Given the description of an element on the screen output the (x, y) to click on. 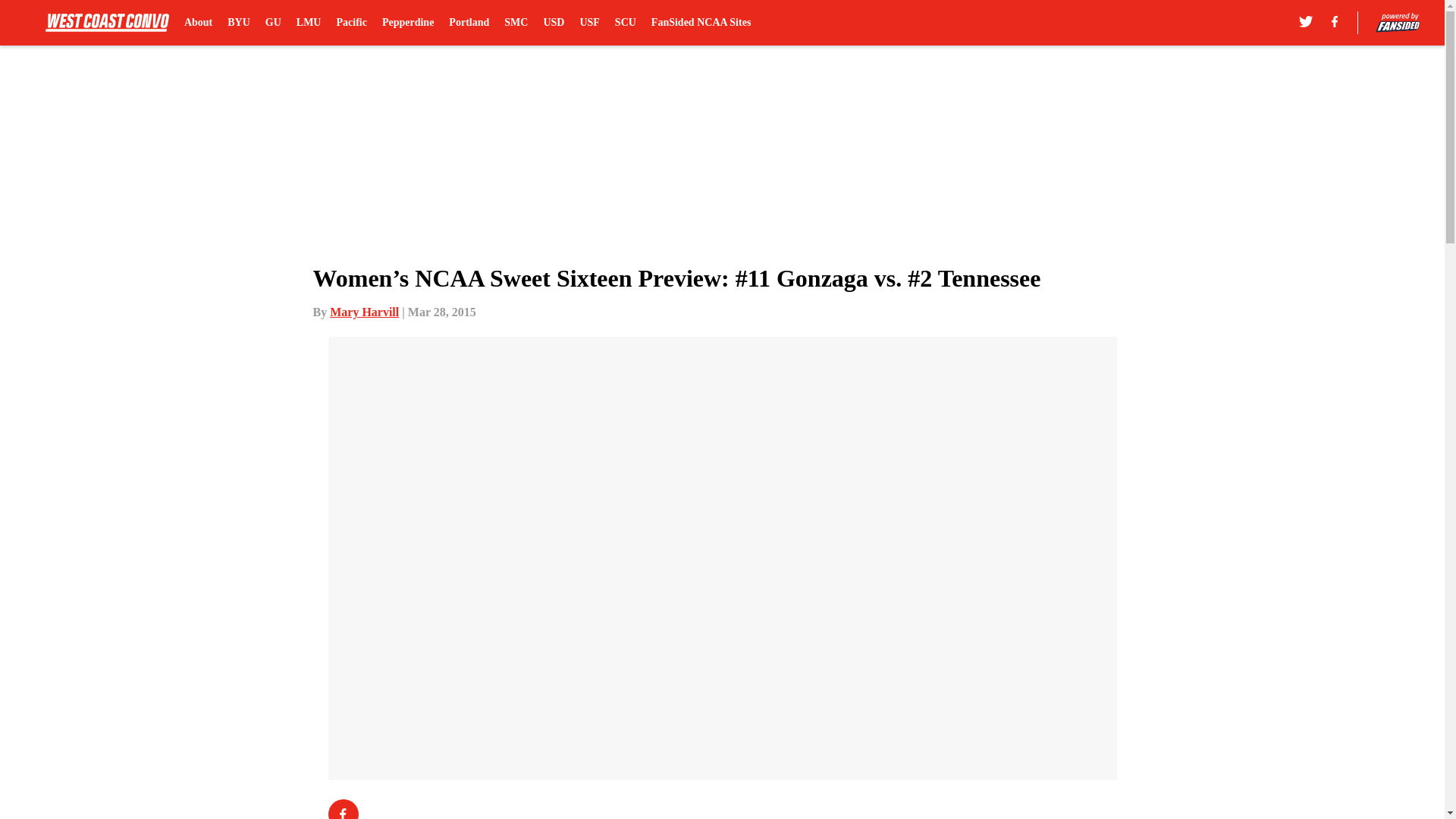
SCU (625, 22)
Pepperdine (407, 22)
About (198, 22)
Mary Harvill (364, 311)
Portland (468, 22)
GU (272, 22)
Pacific (351, 22)
USD (553, 22)
FanSided NCAA Sites (700, 22)
USF (588, 22)
